Given the description of an element on the screen output the (x, y) to click on. 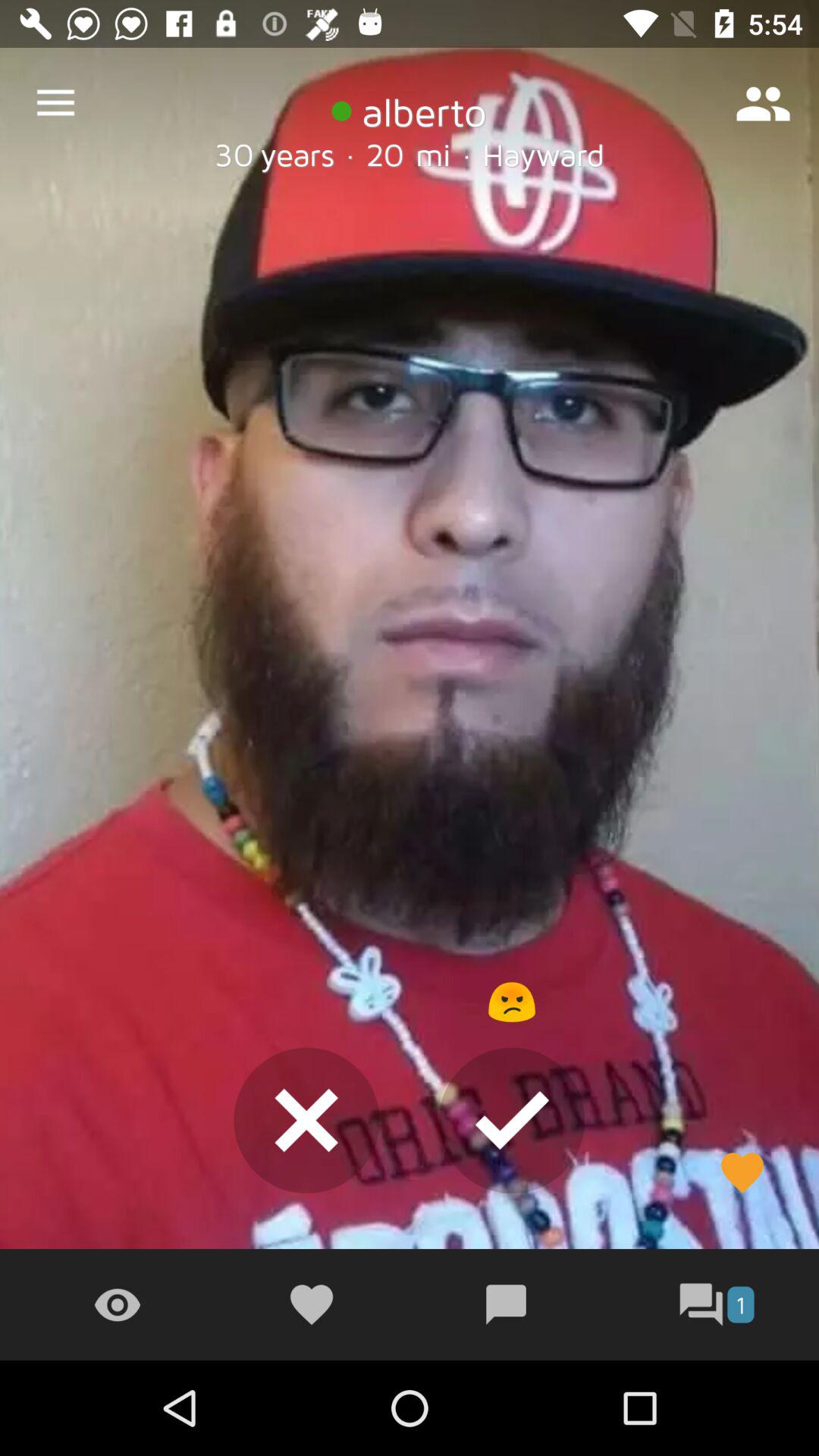
click on the tick option at the bottom (511, 1120)
tap the show icon just to the left of heart icon at the bottom (117, 1304)
select the heart symbol (742, 1173)
